Given the description of an element on the screen output the (x, y) to click on. 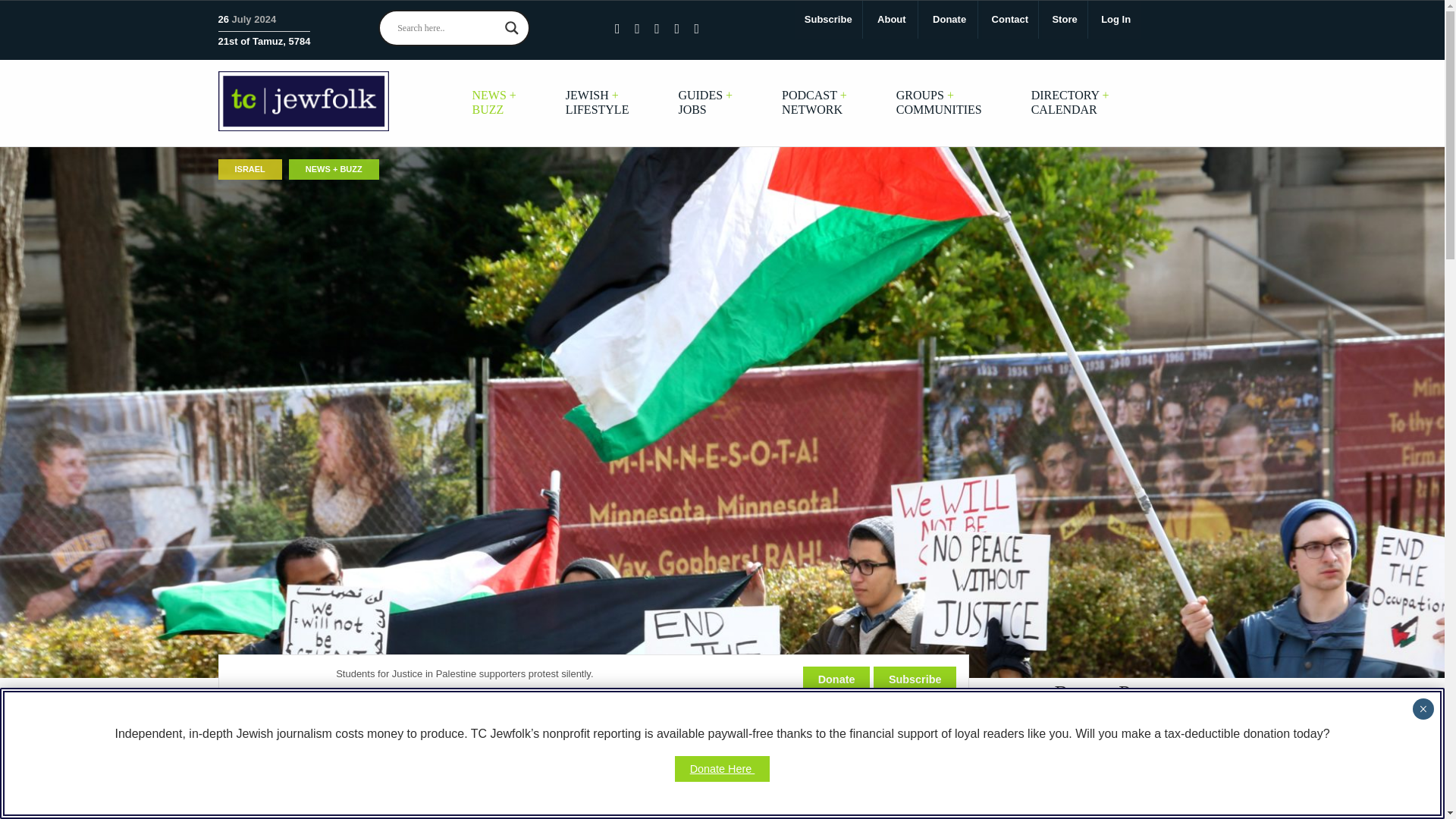
Contact (1009, 19)
Donate (948, 19)
Posts by Lev Gringauz (306, 725)
About (891, 19)
TC Jewfolk (303, 100)
Subscribe (827, 19)
Store (1064, 19)
Log In (1115, 19)
